Given the description of an element on the screen output the (x, y) to click on. 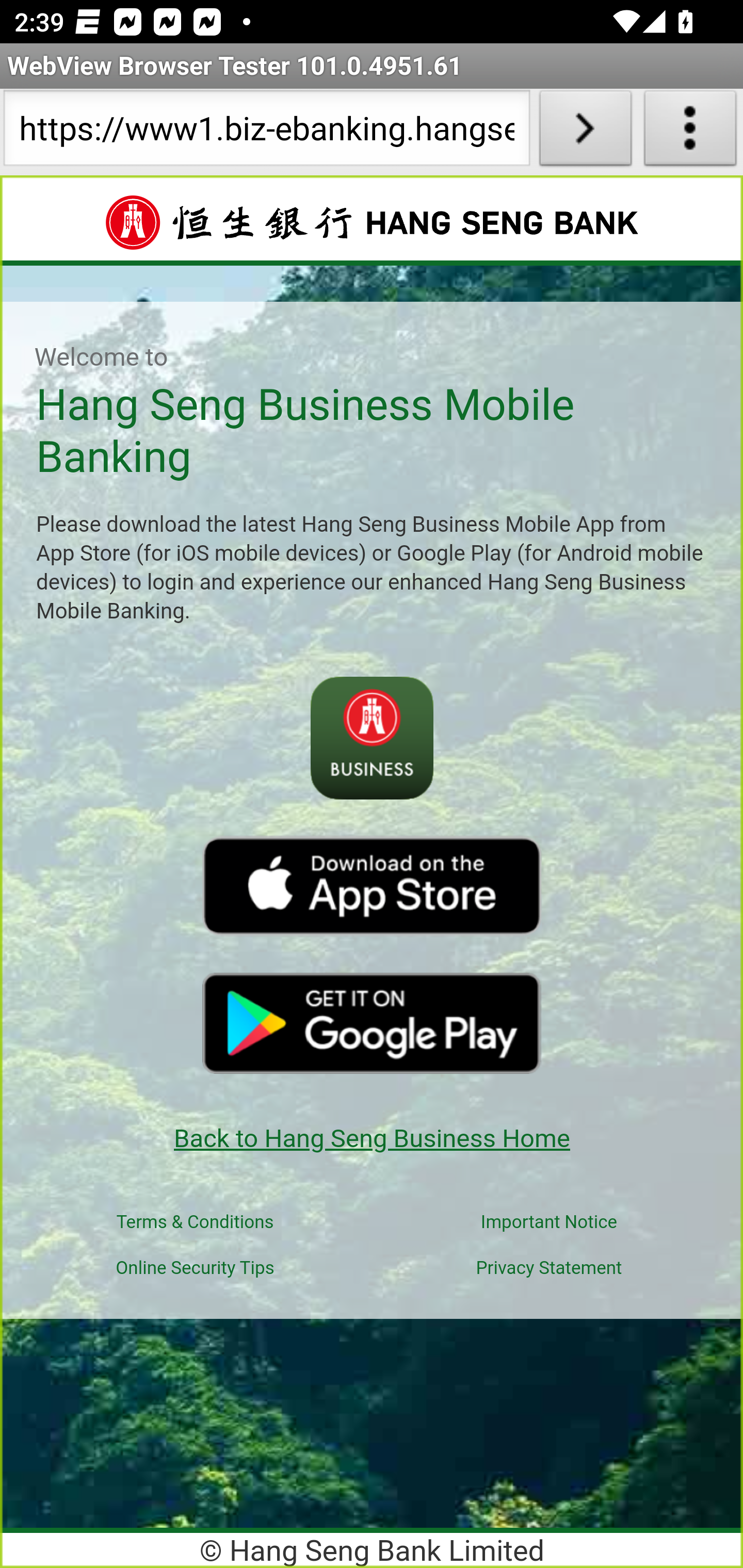
Load URL (585, 132)
About WebView (690, 132)
logo (371, 885)
logo (371, 1022)
Back to Hang Seng Business Home (371, 1138)
Terms & Conditions (194, 1223)
Important Notice (549, 1223)
Online Security Tips (194, 1267)
Privacy Statement (548, 1267)
